Given the description of an element on the screen output the (x, y) to click on. 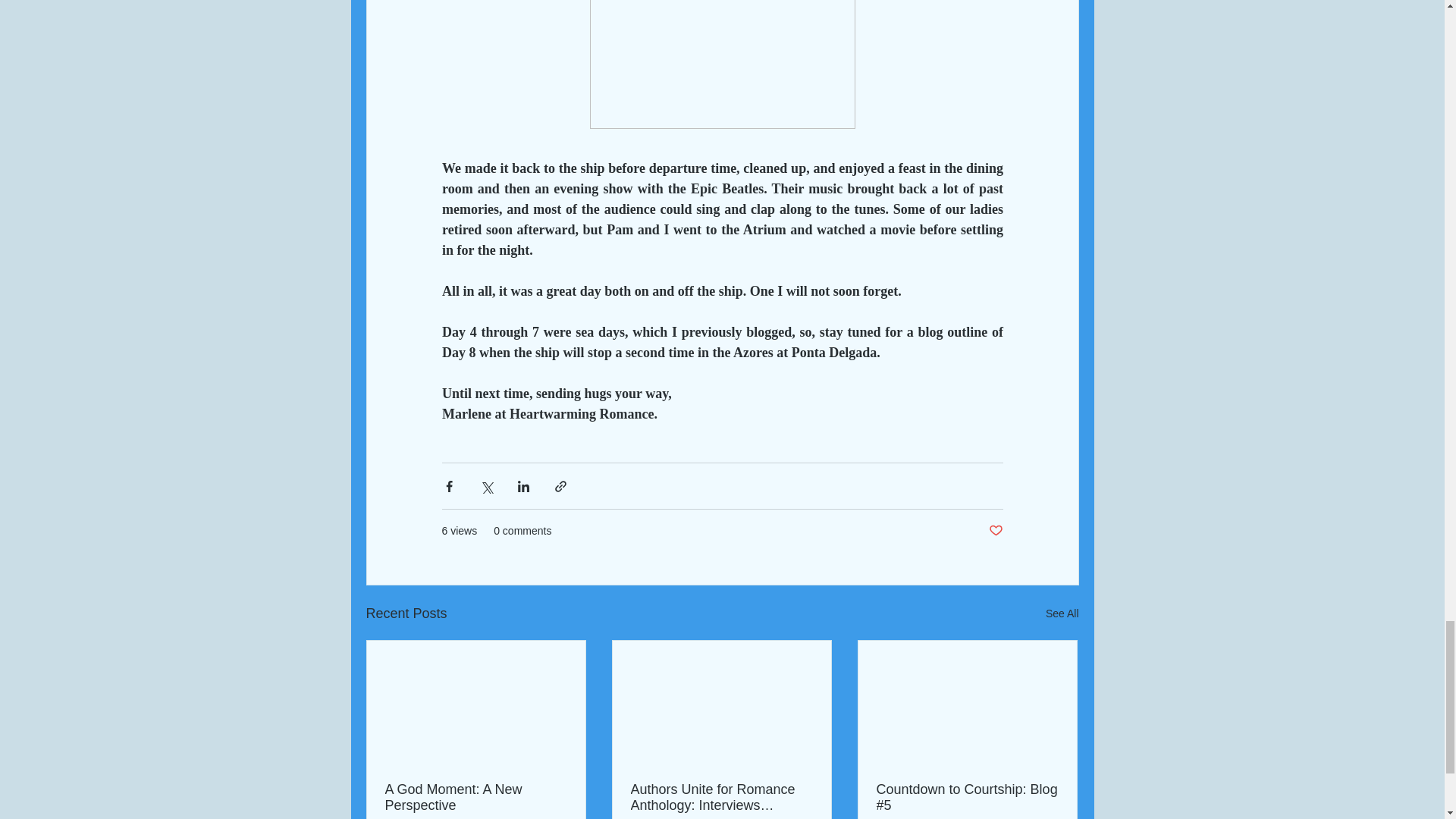
A God Moment: A New Perspective (476, 798)
Post not marked as liked (995, 530)
See All (1061, 613)
